Given the description of an element on the screen output the (x, y) to click on. 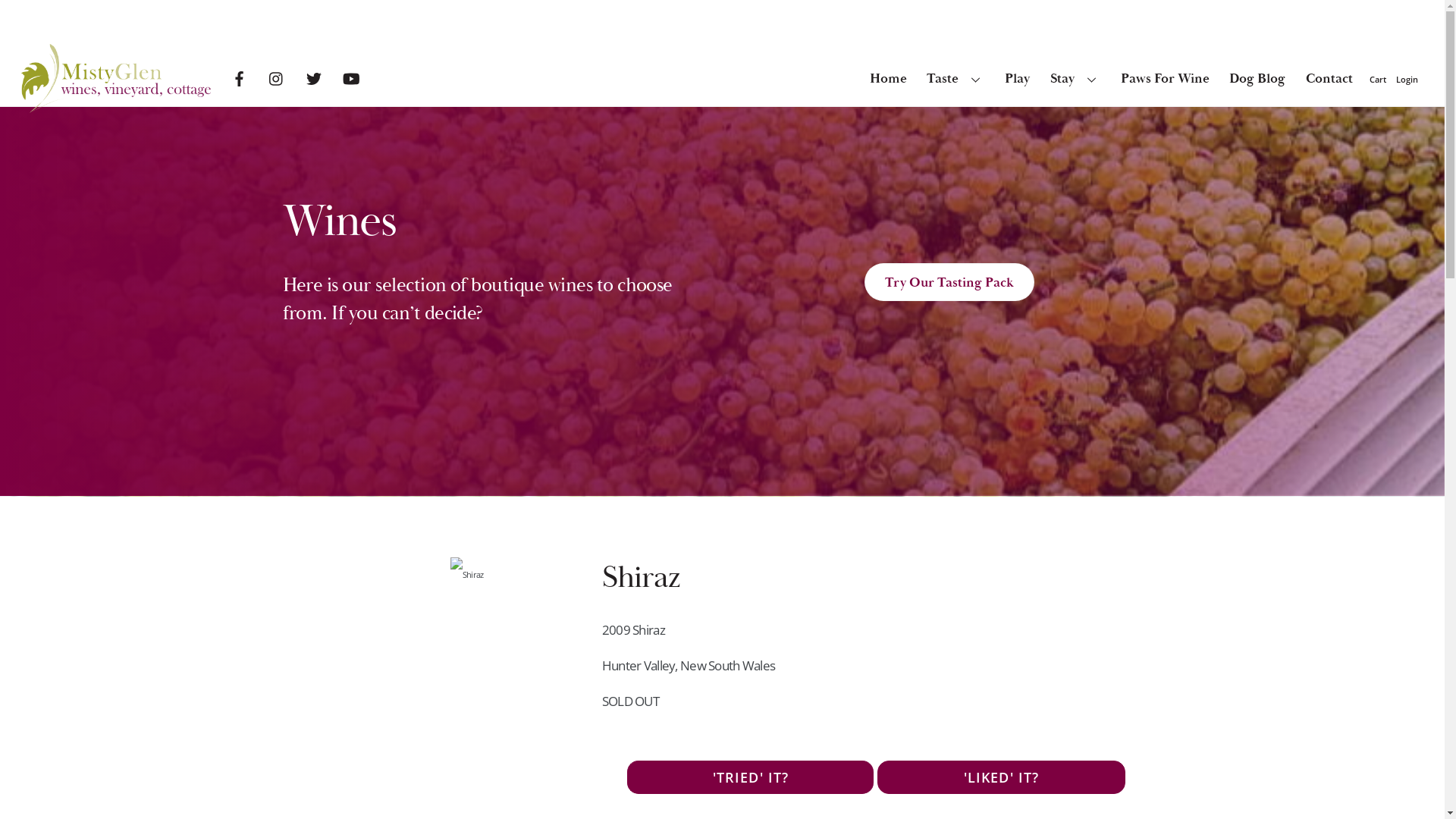
Taste Element type: text (956, 78)
'TRIED' IT? Element type: text (750, 776)
Stay Element type: text (1074, 78)
Dog Blog Element type: text (1256, 78)
'LIKED' IT? Element type: text (1001, 776)
Login Element type: text (1407, 78)
Try Our Tasting Pack Element type: text (949, 281)
Paws For Wine Element type: text (1164, 78)
Play Element type: text (1017, 78)
Misty Glen Element type: hover (115, 106)
Home Element type: text (888, 78)
Contact Element type: text (1329, 78)
Cart Element type: text (1378, 78)
MistyGlen-web-logo Element type: hover (115, 77)
